Given the description of an element on the screen output the (x, y) to click on. 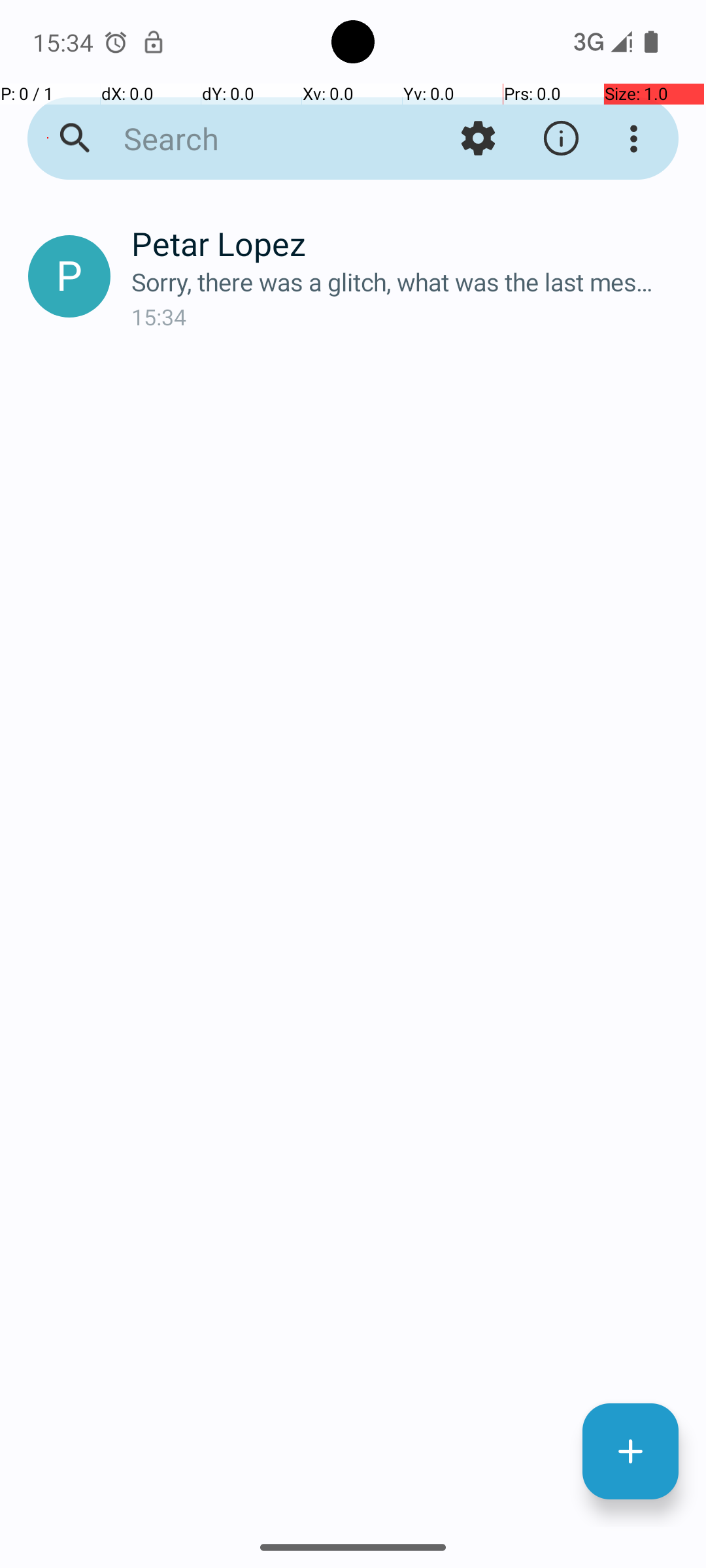
Petar Lopez Element type: android.widget.TextView (408, 242)
